Given the description of an element on the screen output the (x, y) to click on. 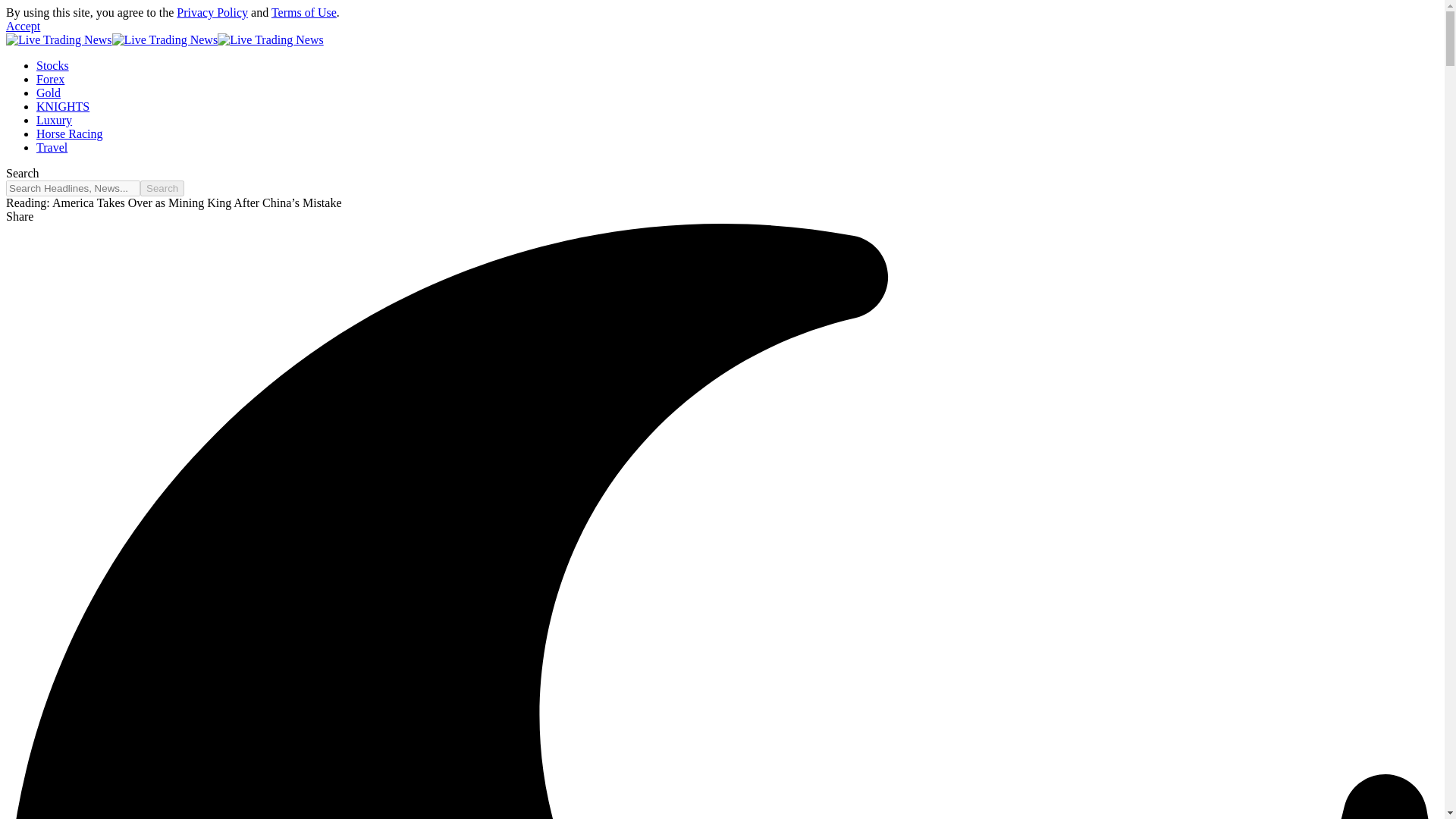
Search (161, 188)
Horse Racing (69, 133)
Forex (50, 78)
Terms of Use (303, 11)
Accept (22, 25)
Privacy Policy (211, 11)
Live Trading News (164, 39)
Gold (48, 92)
Luxury (53, 119)
Travel (51, 146)
